Given the description of an element on the screen output the (x, y) to click on. 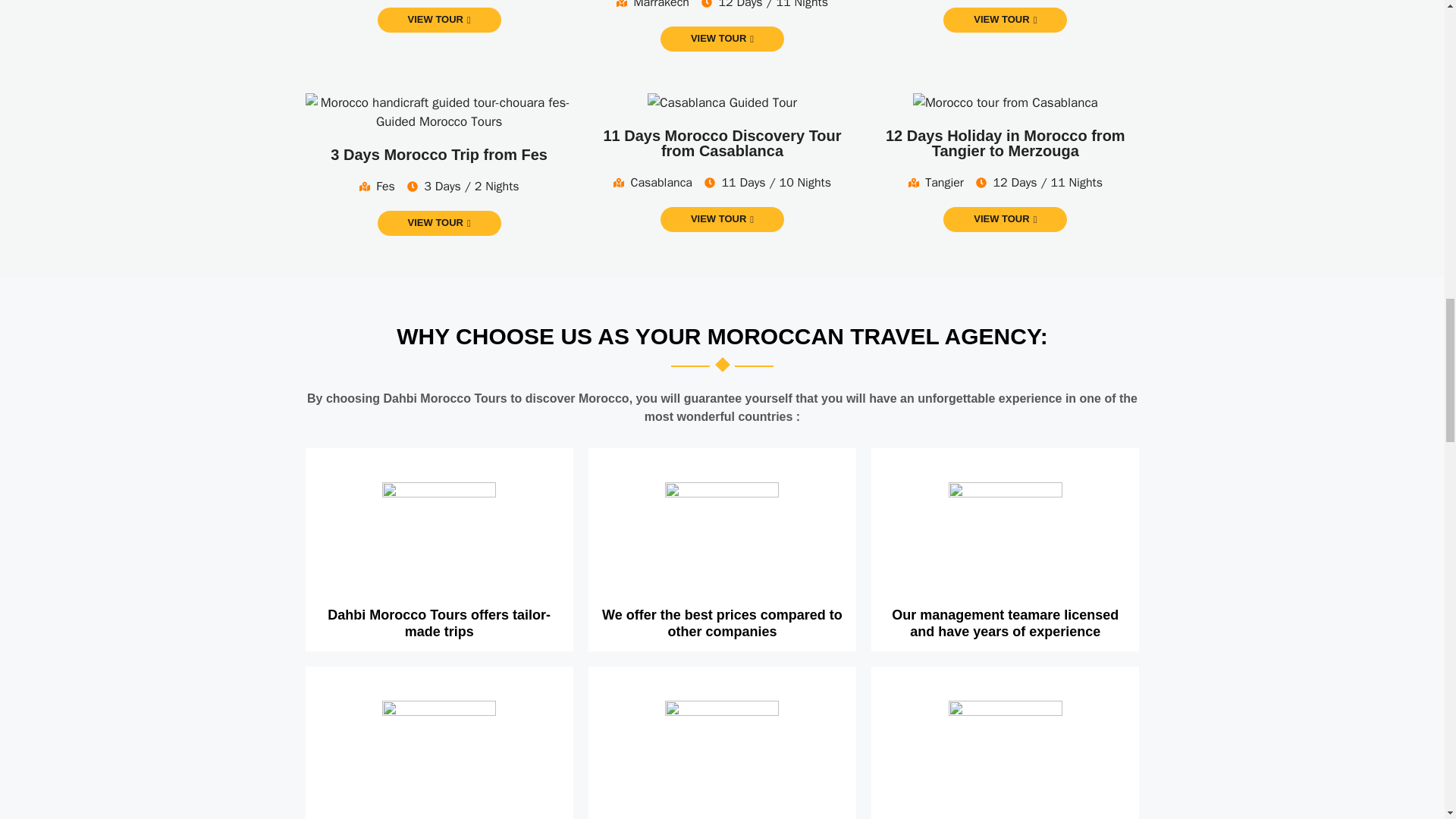
casa1r (721, 103)
Chouara (438, 111)
Morocco-tour-from-Casablanca (1004, 103)
